Given the description of an element on the screen output the (x, y) to click on. 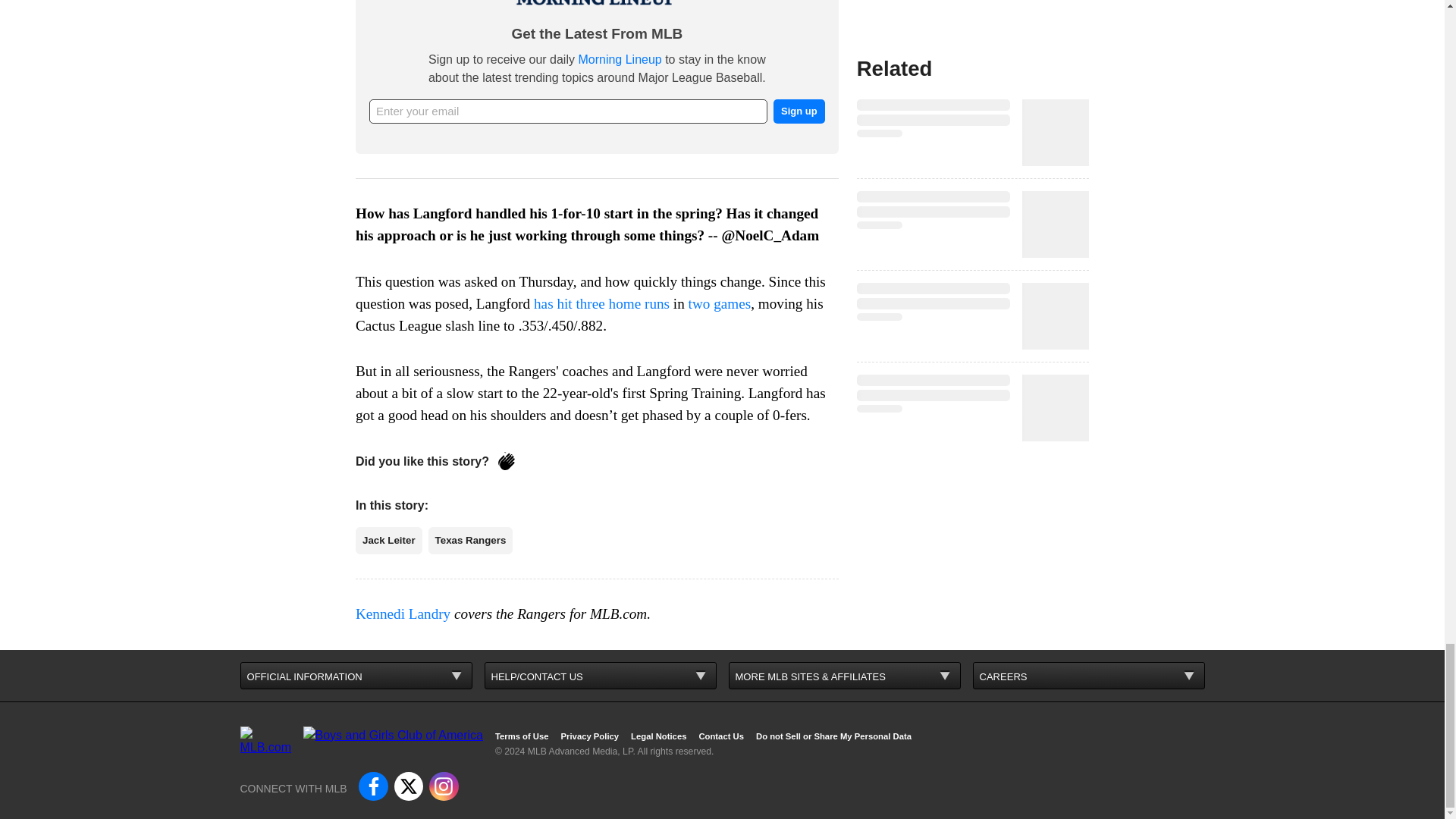
Follow on facebook (372, 786)
Follow on twitter (408, 786)
CAREERS (1088, 675)
Follow on instagram (443, 786)
OFFICIAL INFORMATION (355, 675)
